Given the description of an element on the screen output the (x, y) to click on. 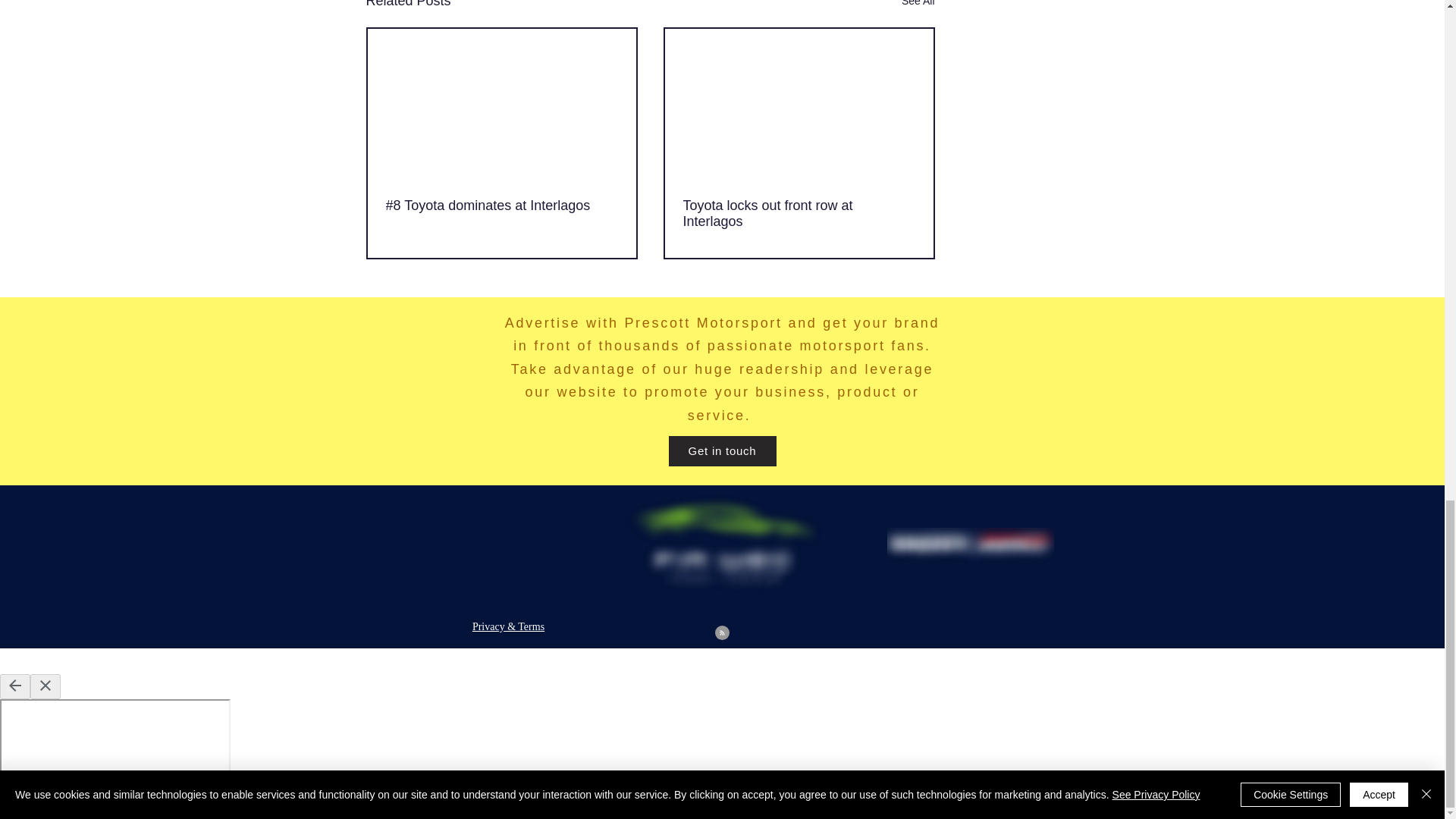
See All (917, 6)
Get in touch (722, 450)
Toyota locks out front row at Interlagos (798, 214)
